Given the description of an element on the screen output the (x, y) to click on. 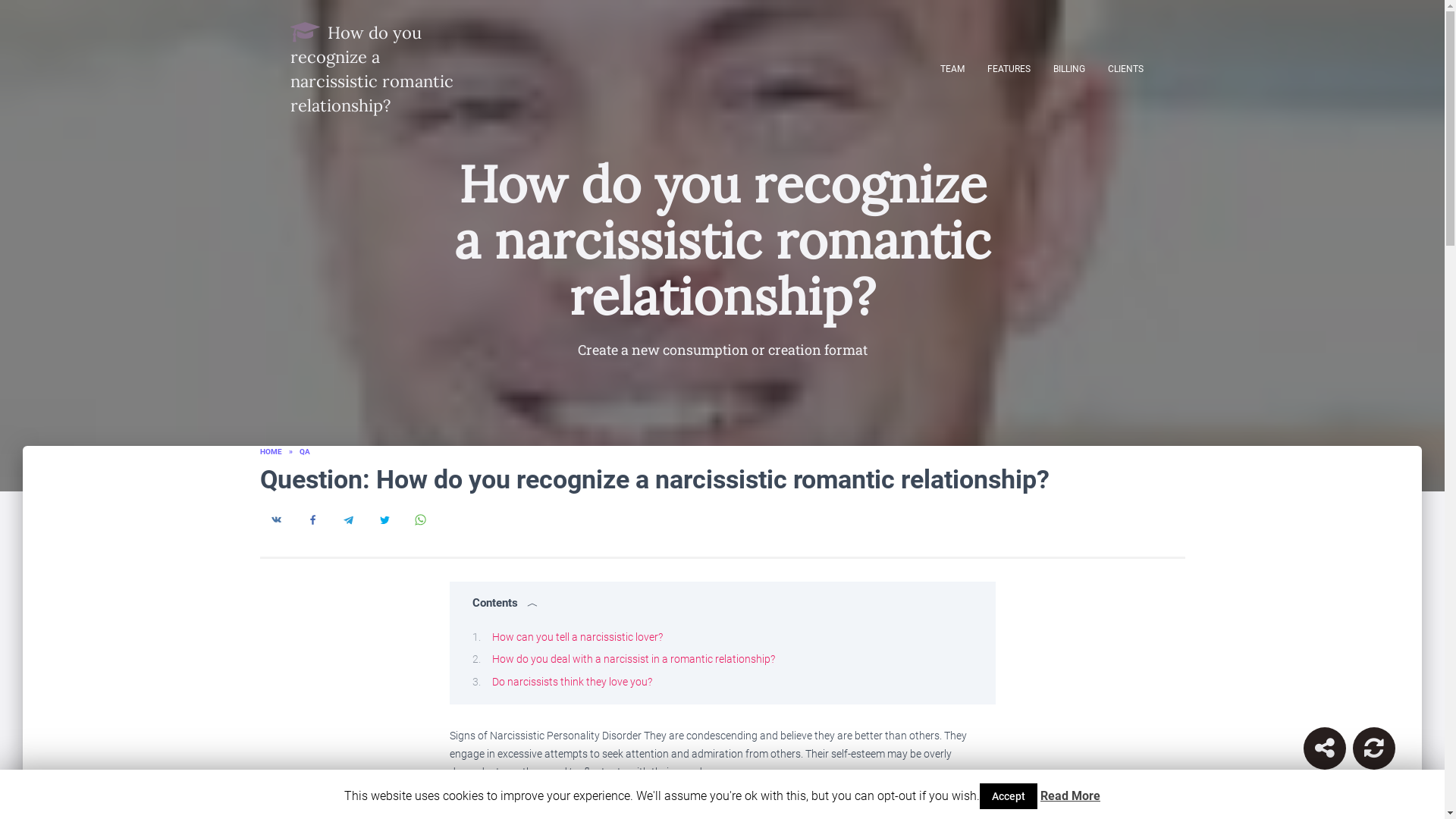
BILLING (1069, 68)
How can you tell a narcissistic lover? (577, 636)
Do narcissists think they love you? (571, 680)
HOME (270, 451)
Share Startup (1324, 748)
CLIENTS (1125, 68)
How do you recognize a narcissistic romantic relationship? (379, 67)
How do you recognize a narcissistic romantic relationship? (379, 67)
New Startup (1374, 747)
Clients (1125, 68)
Read More (1070, 795)
Billing (1069, 68)
Features (1008, 68)
Accept (1007, 795)
